Given the description of an element on the screen output the (x, y) to click on. 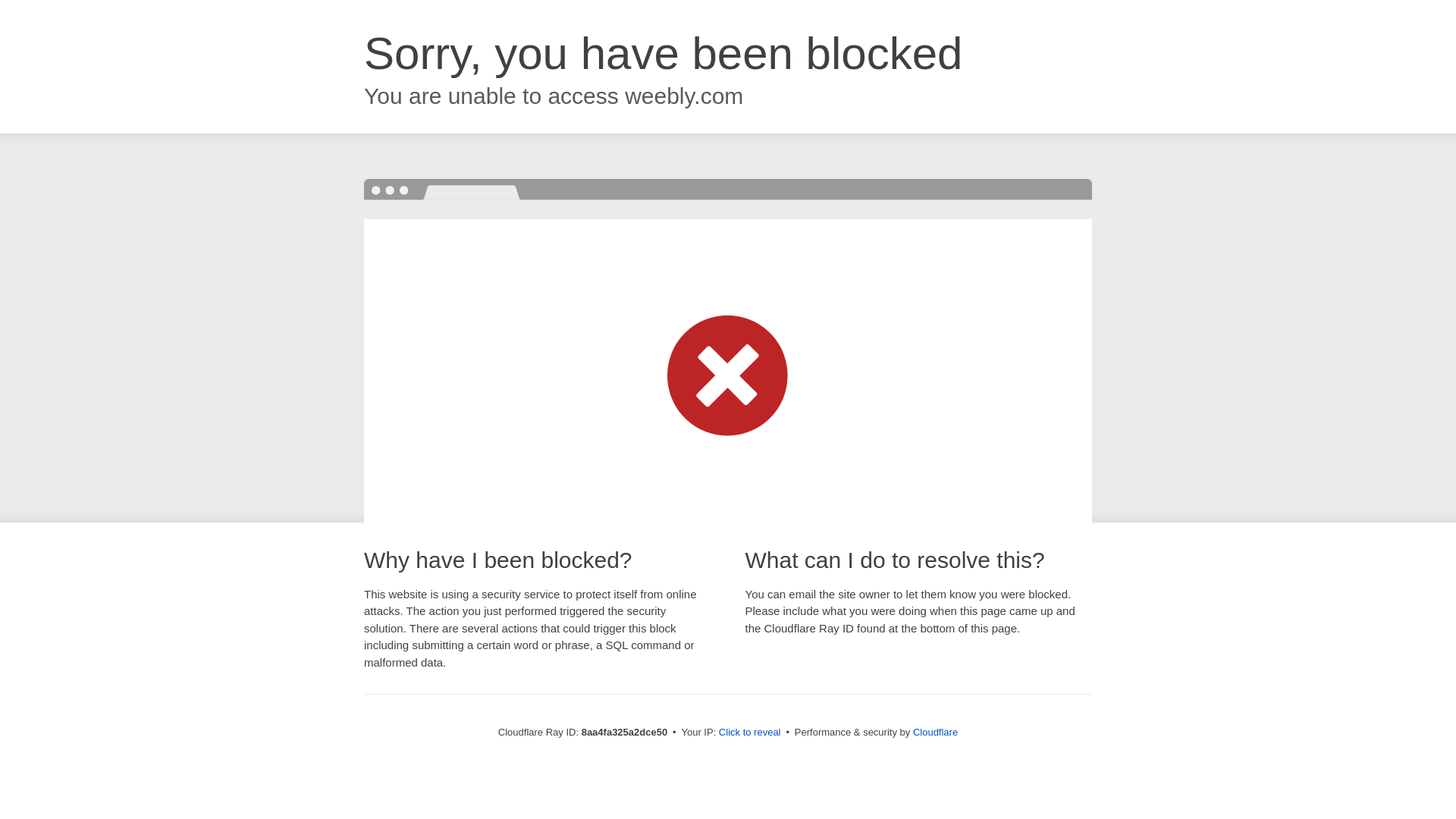
Click to reveal (749, 732)
Cloudflare (935, 731)
